Given the description of an element on the screen output the (x, y) to click on. 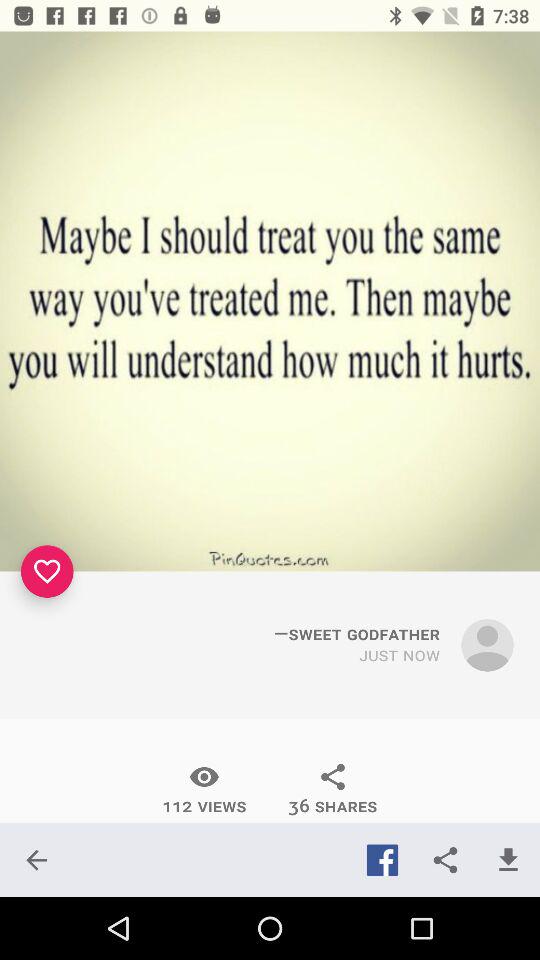
tap item to the left of 112 views (36, 859)
